Given the description of an element on the screen output the (x, y) to click on. 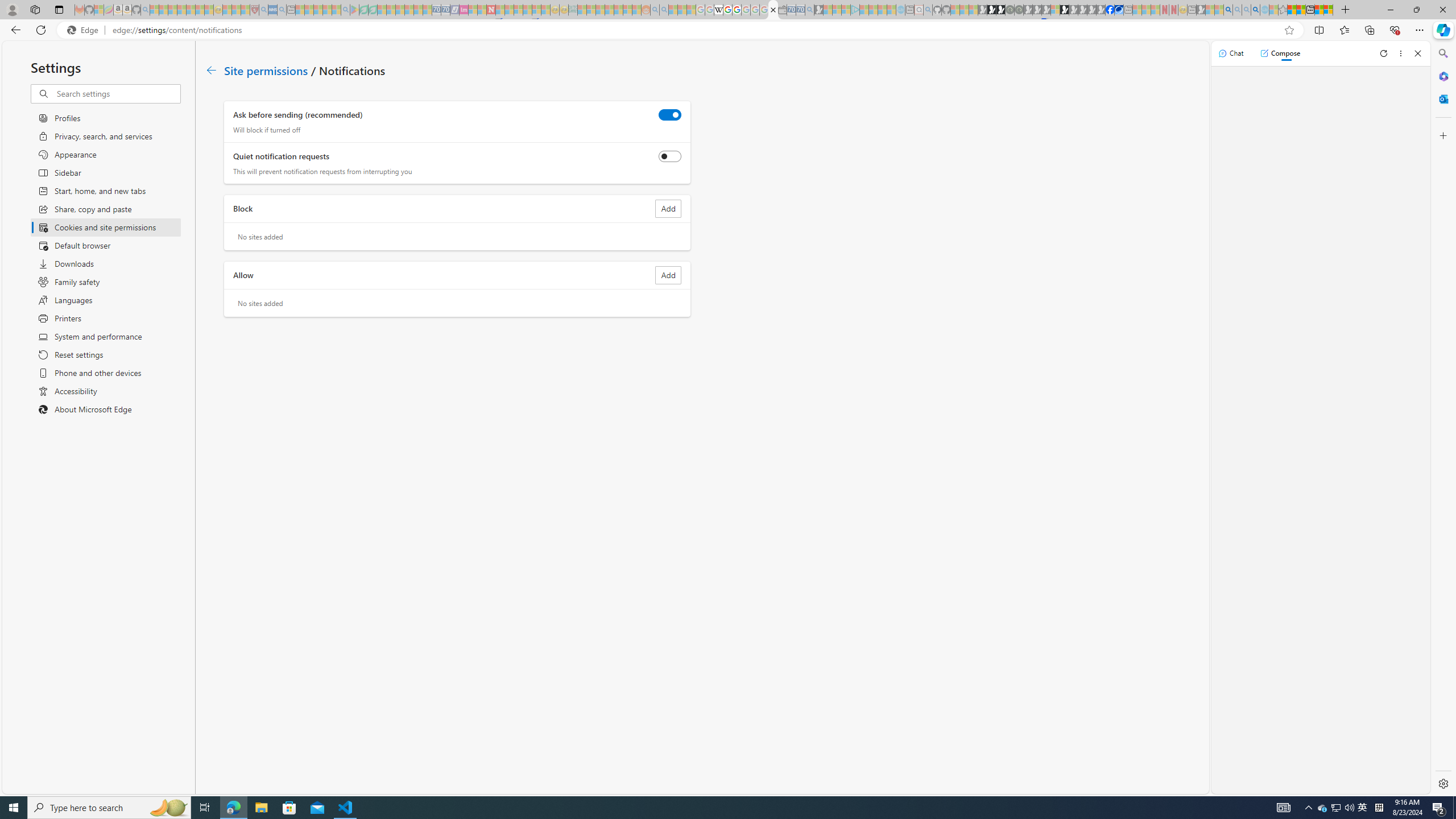
Microsoft-Report a Concern to Bing - Sleeping (98, 9)
NCL Adult Asthma Inhaler Choice Guideline - Sleeping (272, 9)
Go back to Site permissions page. (210, 70)
Wallet - Sleeping (782, 9)
Bluey: Let's Play! - Apps on Google Play - Sleeping (354, 9)
Jobs - lastminute.com Investor Portal - Sleeping (463, 9)
github - Search - Sleeping (927, 9)
